Given the description of an element on the screen output the (x, y) to click on. 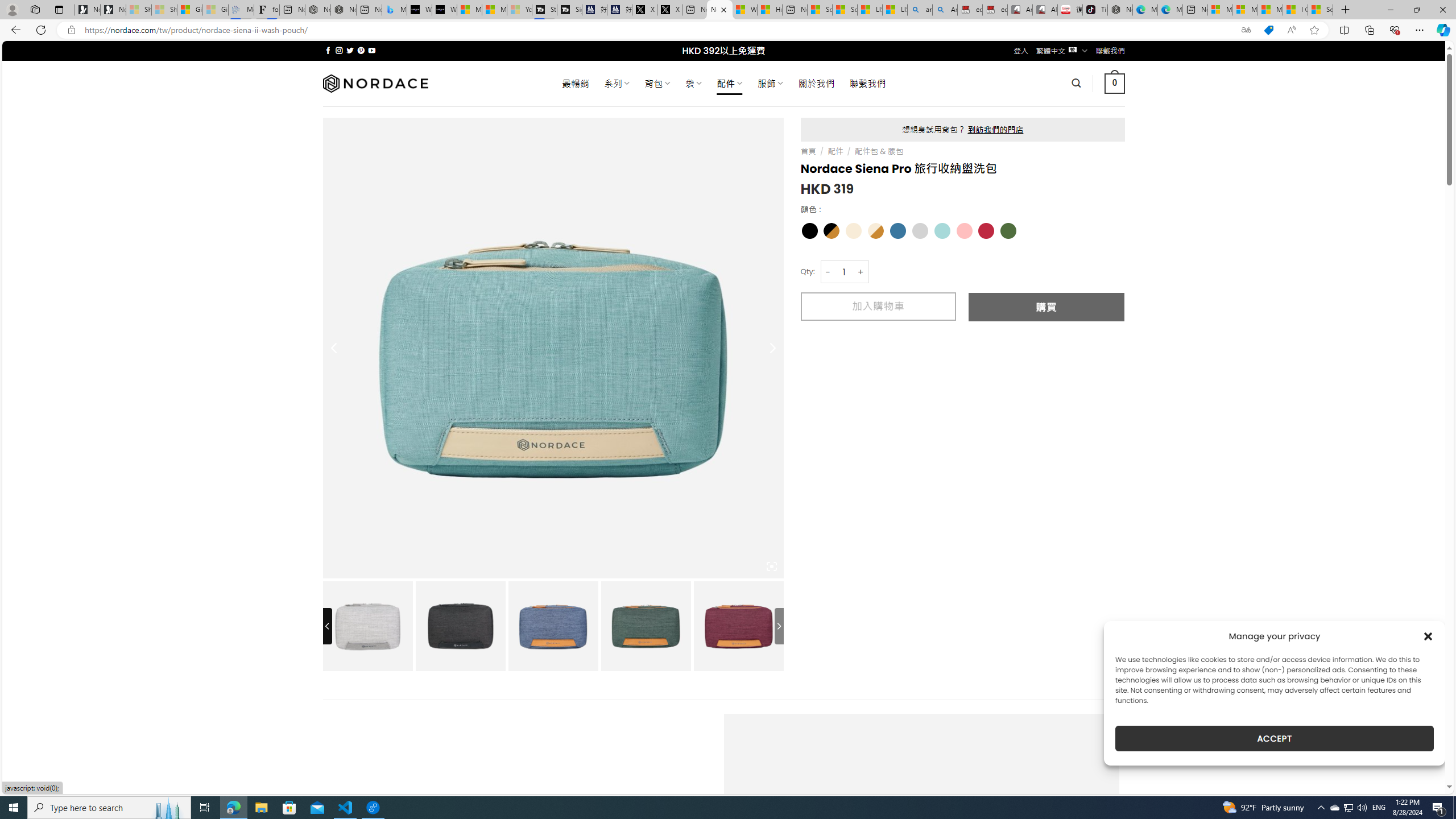
Huge shark washes ashore at New York City beach | Watch (769, 9)
ACCEPT (1274, 738)
Nordace - Best Sellers (1119, 9)
amazon - Search (919, 9)
This site has coupons! Shopping in Microsoft Edge (1268, 29)
